Given the description of an element on the screen output the (x, y) to click on. 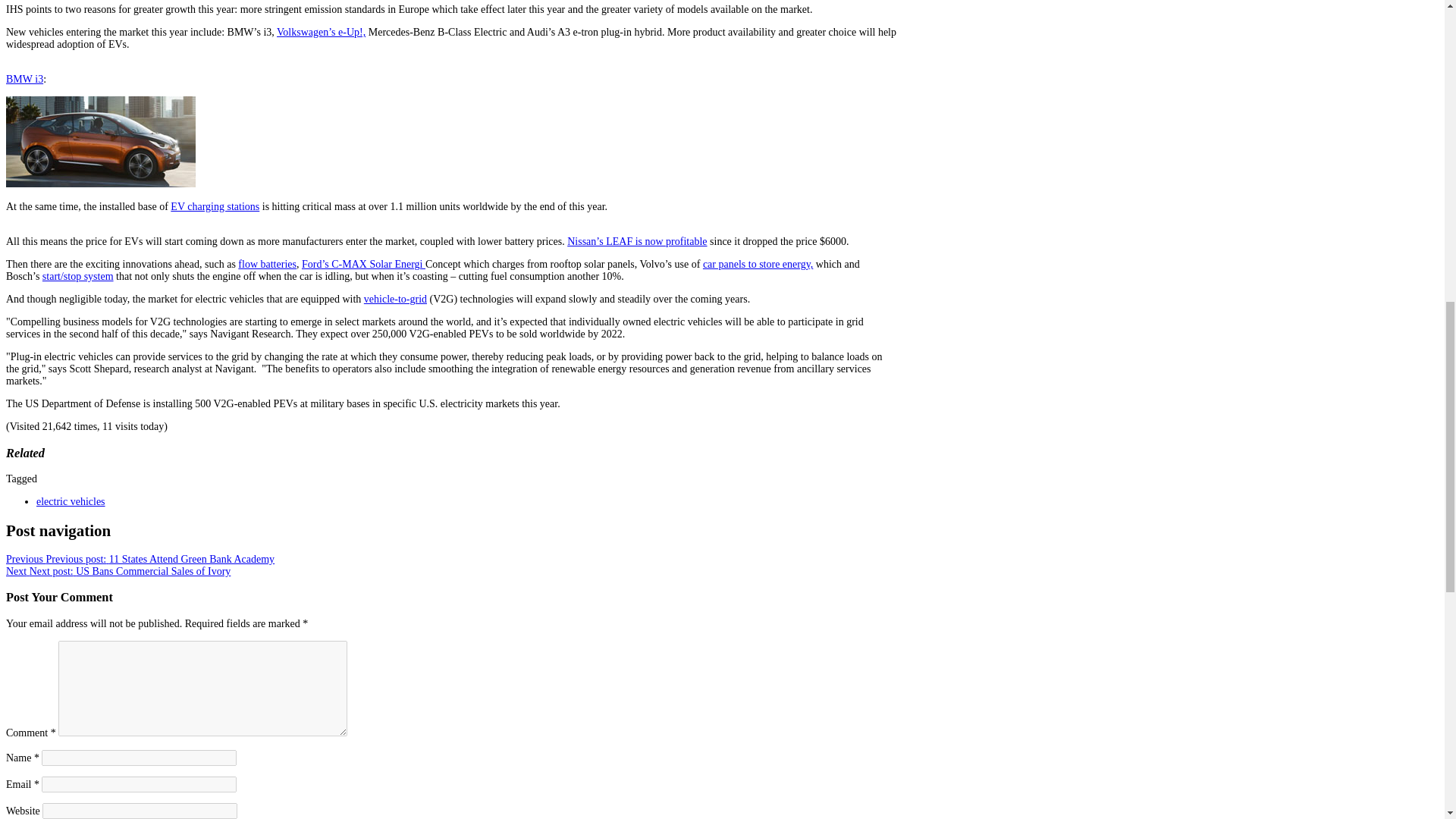
car panels to store energy, (757, 264)
EV charging stations (214, 206)
flow batteries (267, 264)
BMW i3 (24, 79)
vehicle-to-grid (395, 298)
